Given the description of an element on the screen output the (x, y) to click on. 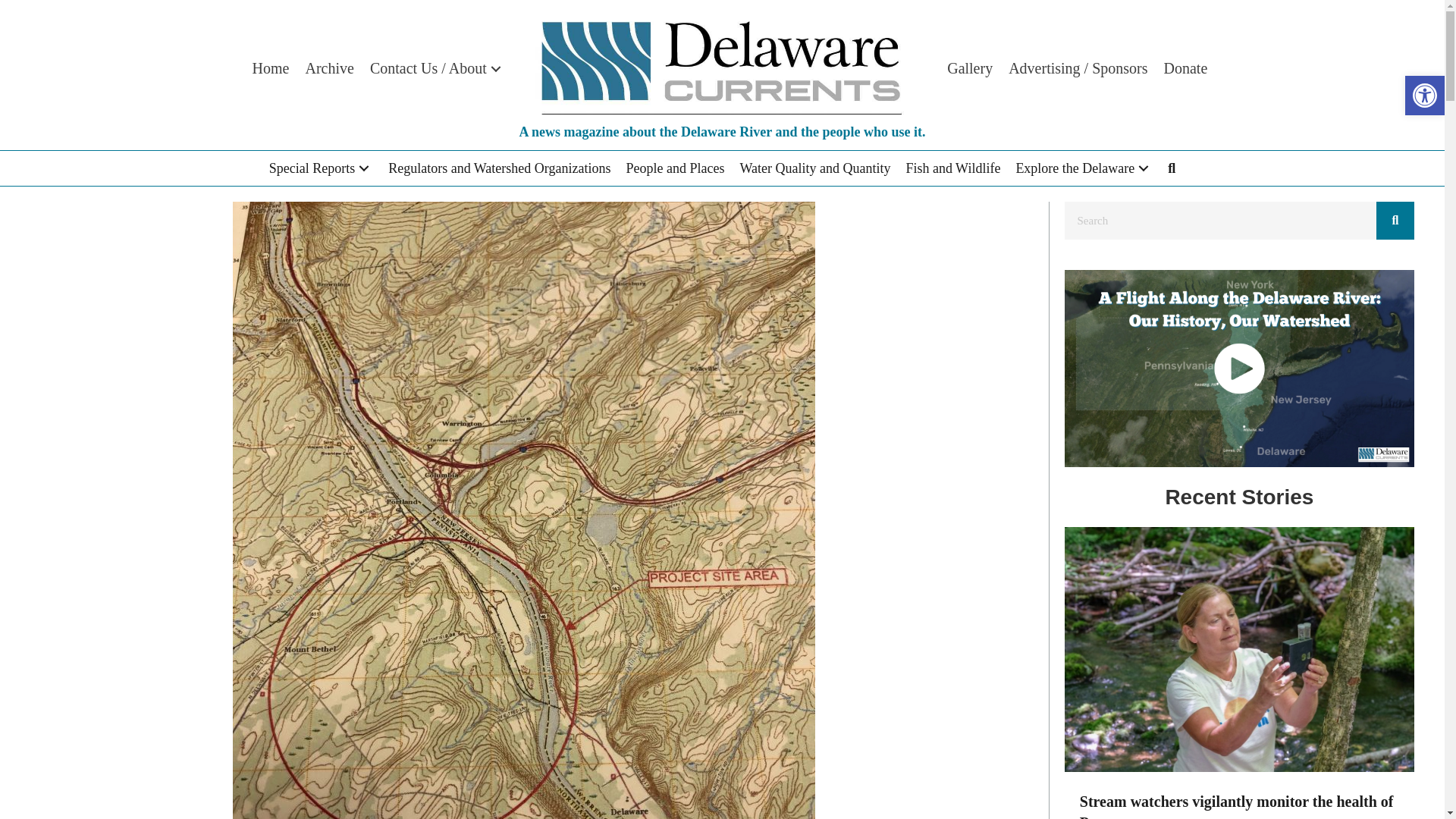
Special Reports (321, 167)
Accessibility Tools (1424, 95)
Home (270, 67)
Stream 6 (1238, 649)
Search (1219, 220)
Archive (329, 67)
A Flight Along the Delaware River Our History, Our Watershed (1238, 368)
Donate (1185, 67)
Gallery (969, 67)
